Given the description of an element on the screen output the (x, y) to click on. 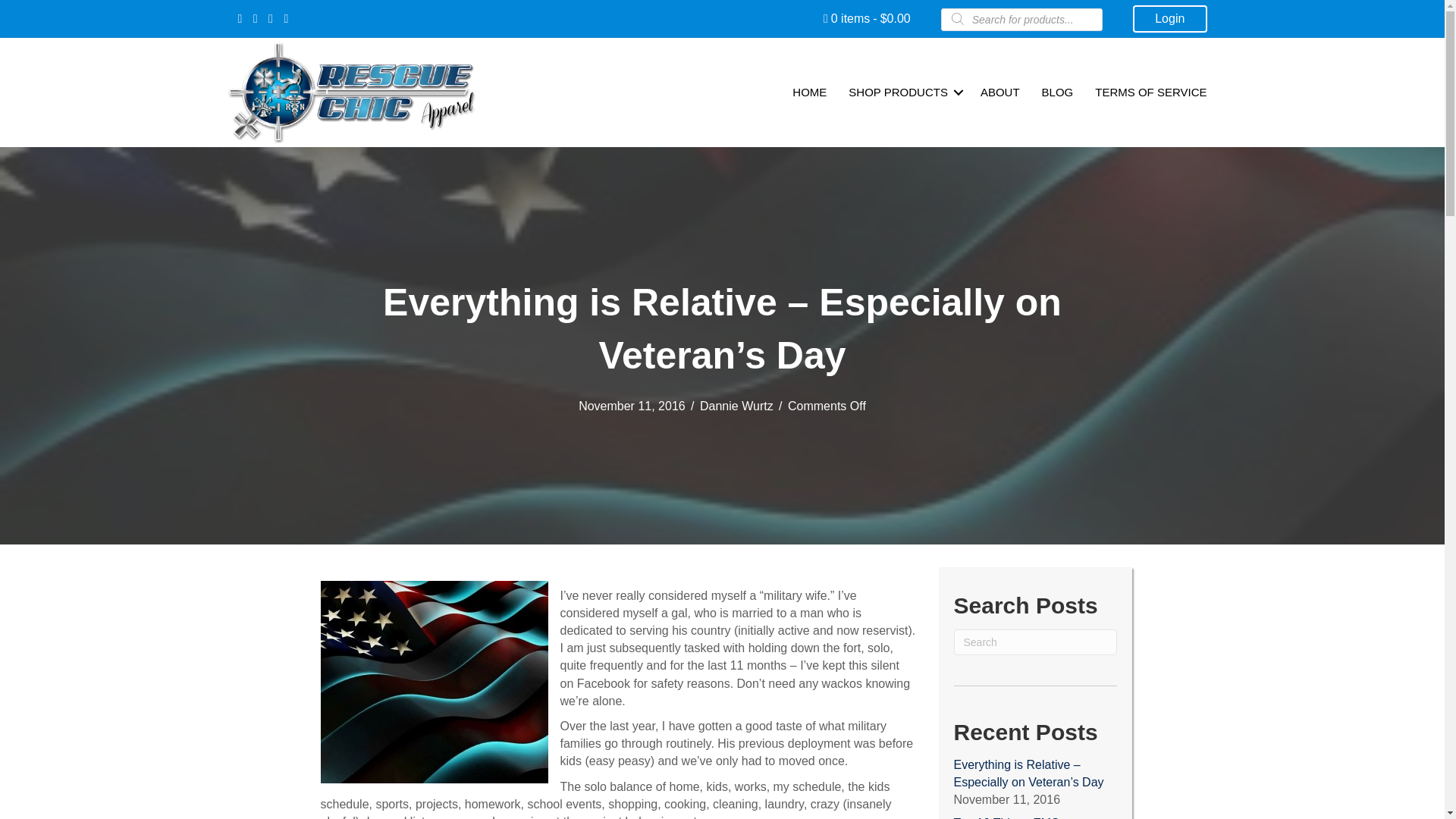
Login (1169, 18)
Start shopping (867, 18)
Top 10 Things EMS Preceptors need to Remember (1006, 817)
HOME (809, 92)
Dannie Wurtz (736, 405)
logo-3 (352, 92)
BLOG (1057, 92)
ABOUT (999, 92)
Type and press Enter to search. (1034, 642)
TERMS OF SERVICE (1150, 92)
